Given the description of an element on the screen output the (x, y) to click on. 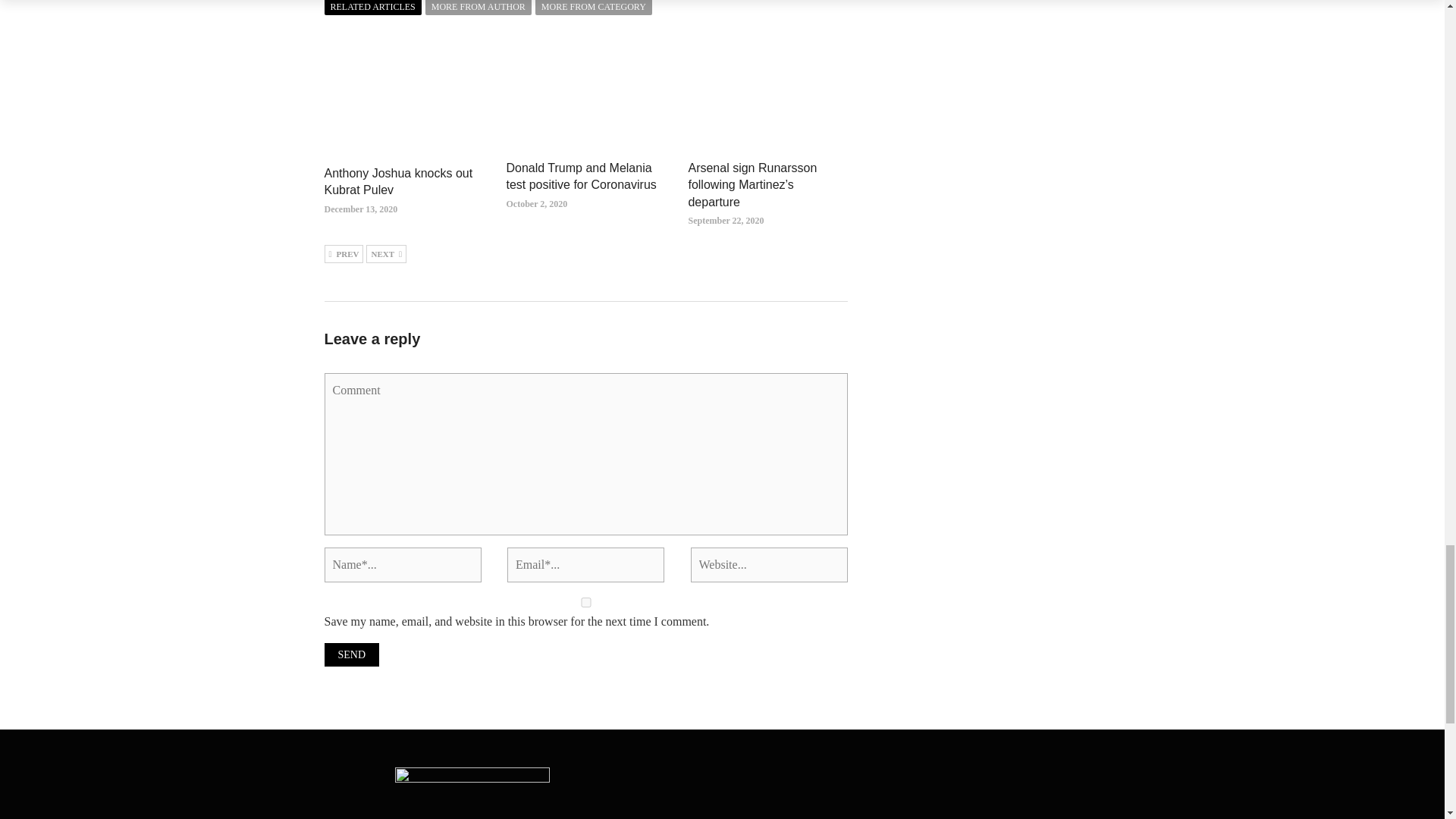
Next (386, 253)
yes (585, 602)
Send (352, 654)
Previous (344, 253)
